Given the description of an element on the screen output the (x, y) to click on. 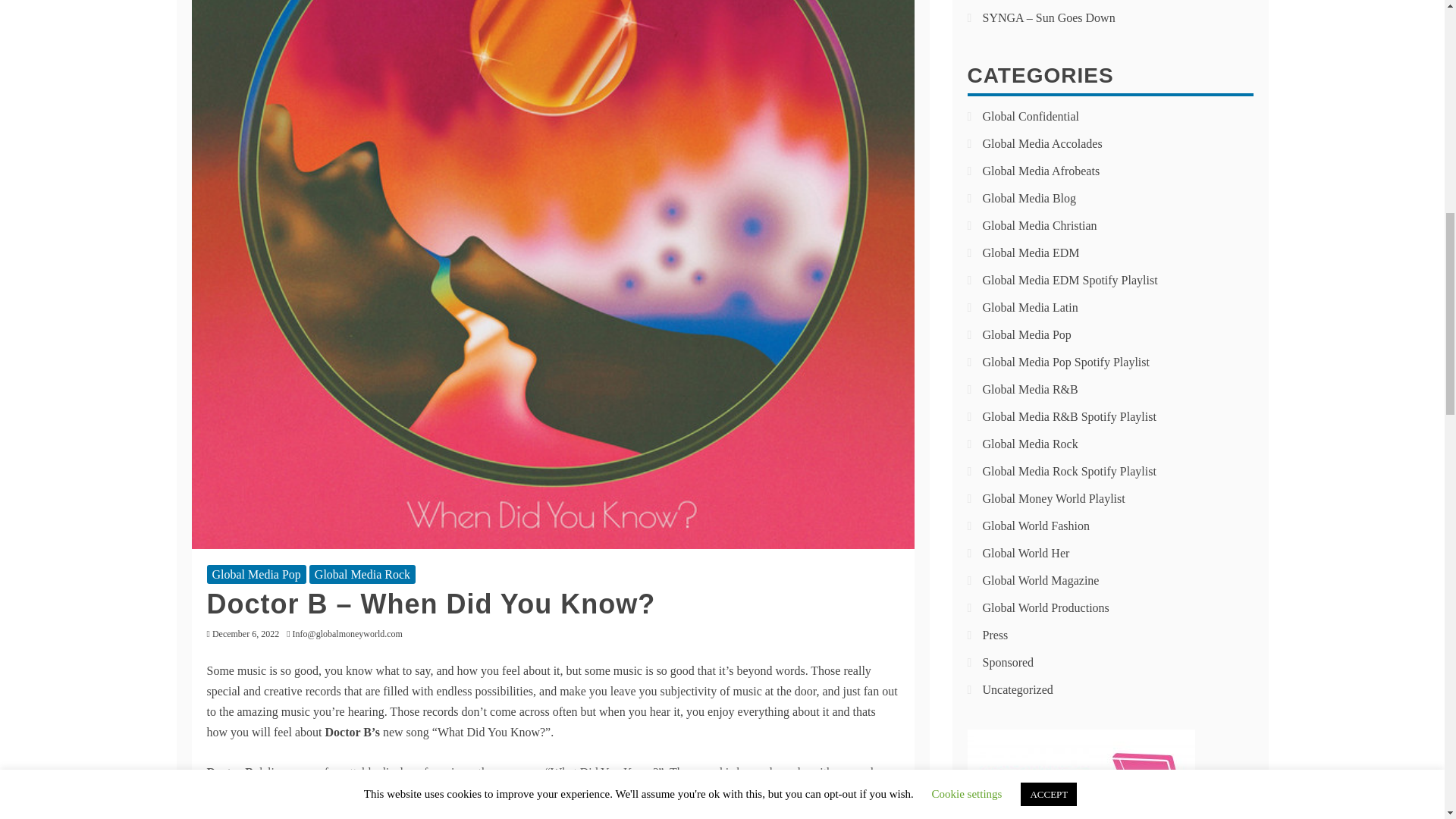
Global Media Pop (255, 574)
